Given the description of an element on the screen output the (x, y) to click on. 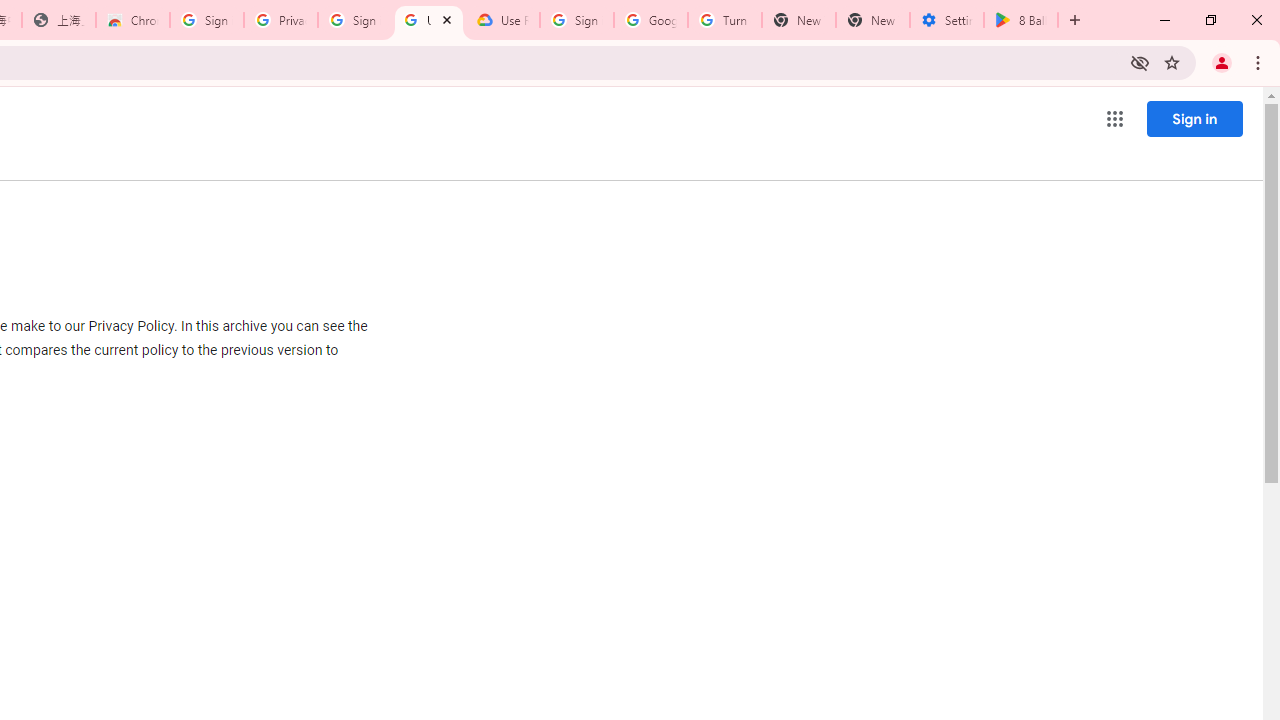
8 Ball Pool - Apps on Google Play (1021, 20)
Sign in - Google Accounts (354, 20)
Settings - System (947, 20)
Turn cookies on or off - Computer - Google Account Help (724, 20)
New Tab (872, 20)
